Given the description of an element on the screen output the (x, y) to click on. 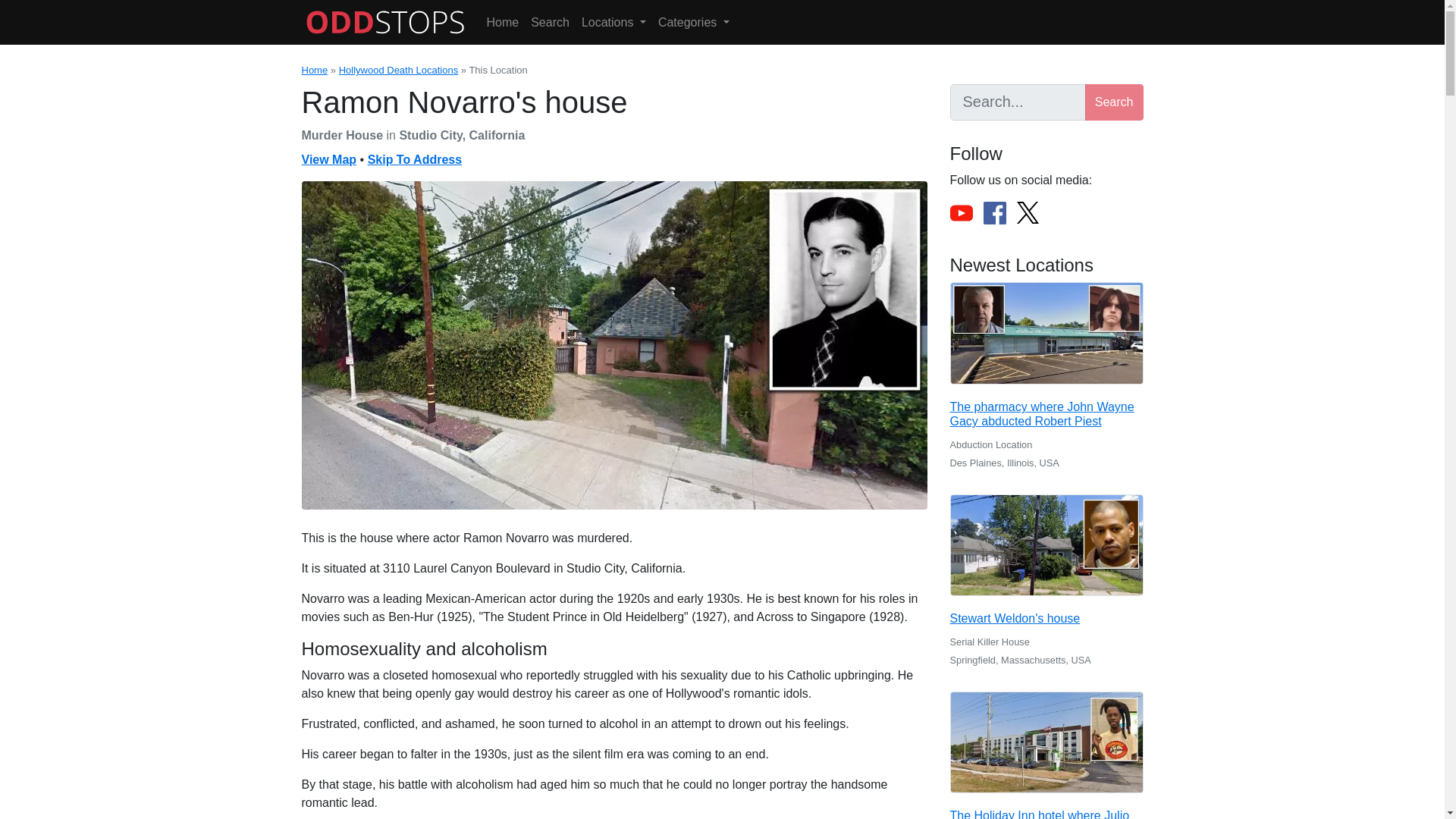
Search (549, 22)
The Holiday Inn hotel where Julio Foolio was killed (1045, 742)
Skip To Address (414, 159)
Locations (613, 22)
Nisson Pharmacy (1045, 332)
Stewart Weldon's house (1045, 545)
Home (502, 22)
Odd Stops - Interesting and odd places to visit. (384, 22)
Hollywood Death Locations (398, 70)
Categories (693, 22)
Home (315, 70)
View Map (328, 159)
